Given the description of an element on the screen output the (x, y) to click on. 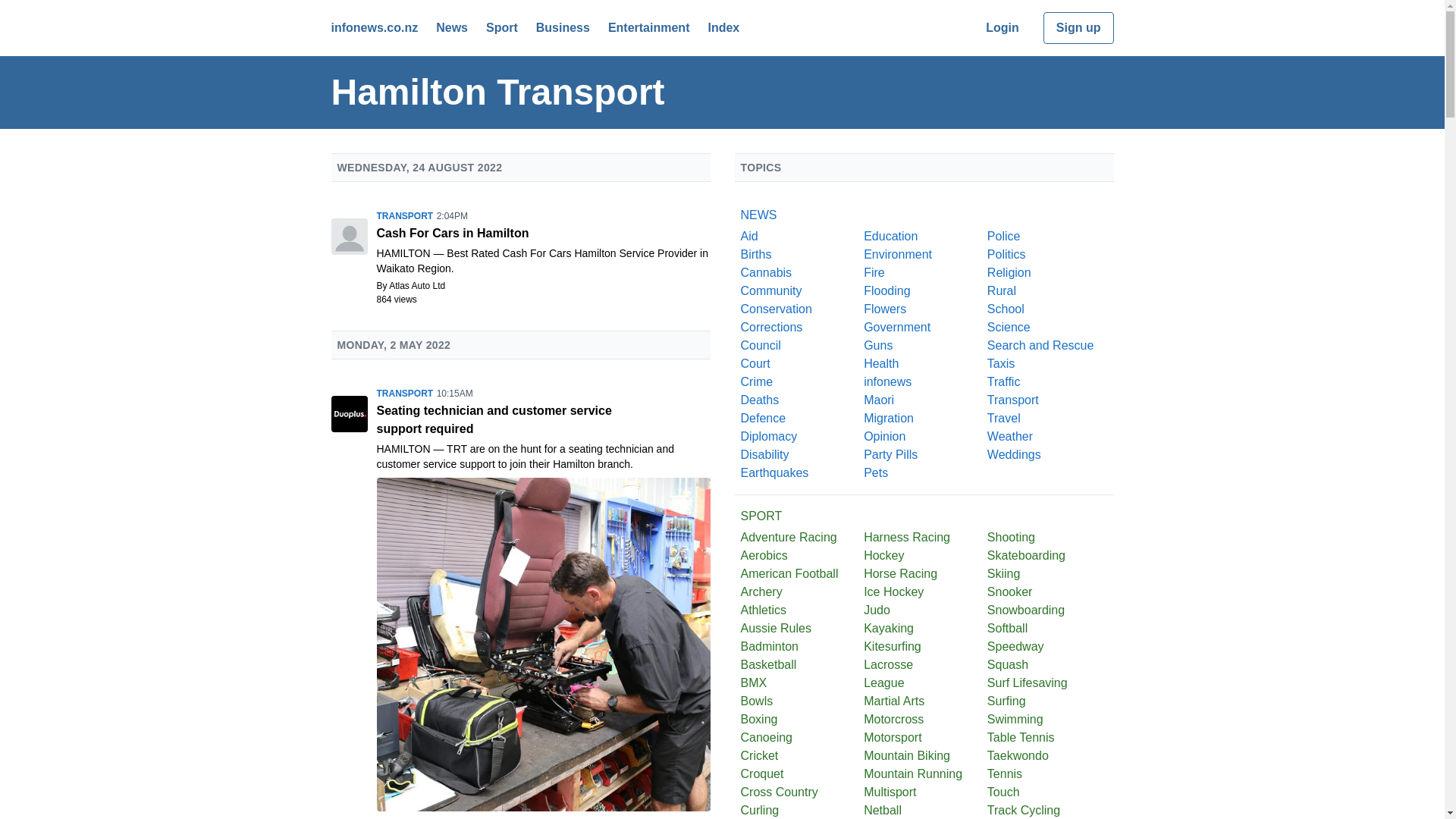
Cash For Cars in Hamilton (542, 233)
Sign up (1078, 28)
TRANSPORT (403, 215)
Entertainment (649, 27)
Business (562, 27)
Login (1002, 27)
HAMILTON (403, 449)
Index (723, 27)
Seating technician and customer service support required (542, 420)
TRANSPORT (403, 393)
News (451, 27)
infonews.co.nz (373, 27)
HAMILTON (403, 253)
Sport (502, 27)
Atlas Auto Ltd (416, 285)
